Given the description of an element on the screen output the (x, y) to click on. 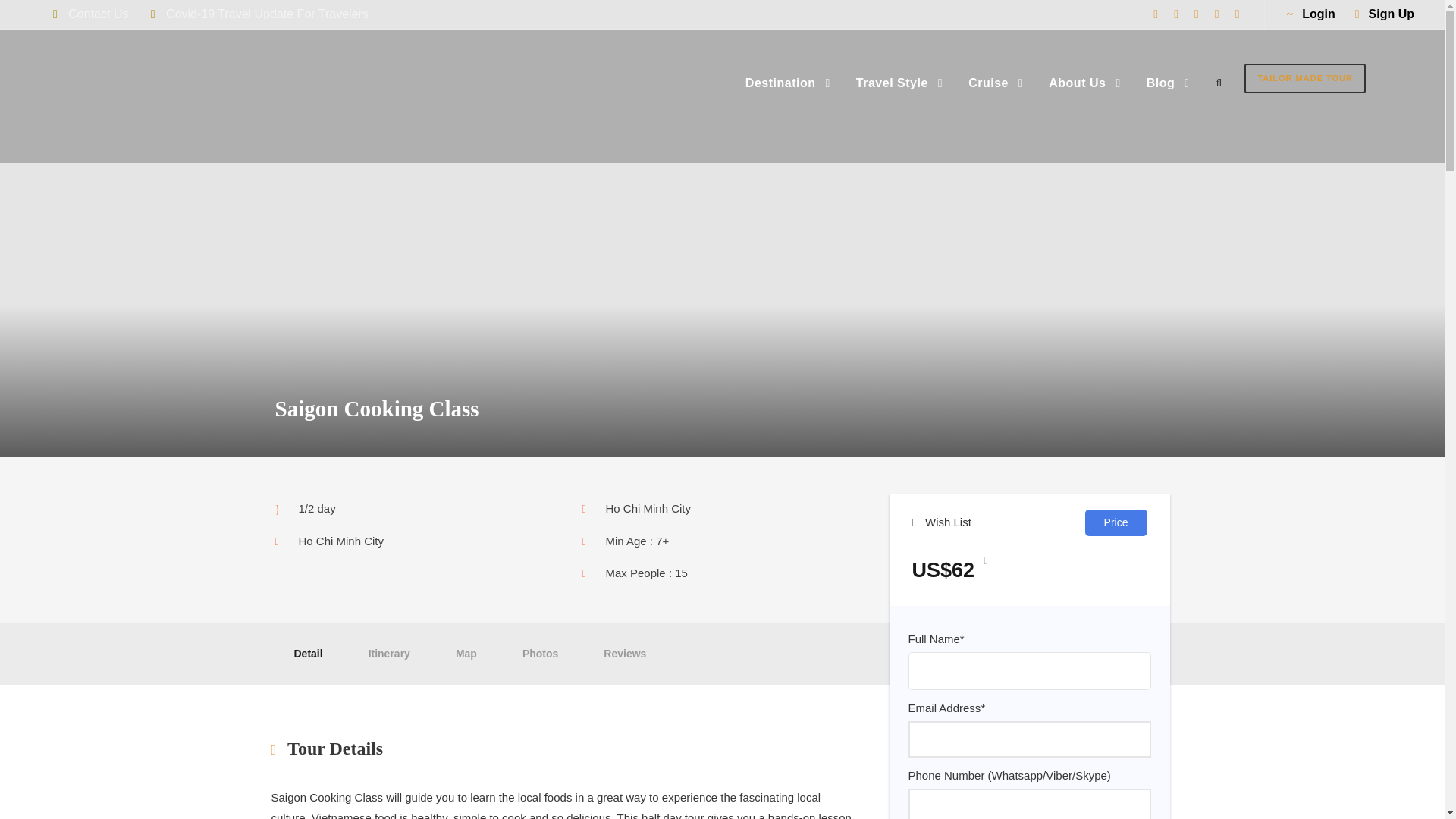
Destination (787, 84)
logo3 (190, 96)
Contact Us (98, 13)
Covid-19 Travel Update For Travelers (266, 13)
